Given the description of an element on the screen output the (x, y) to click on. 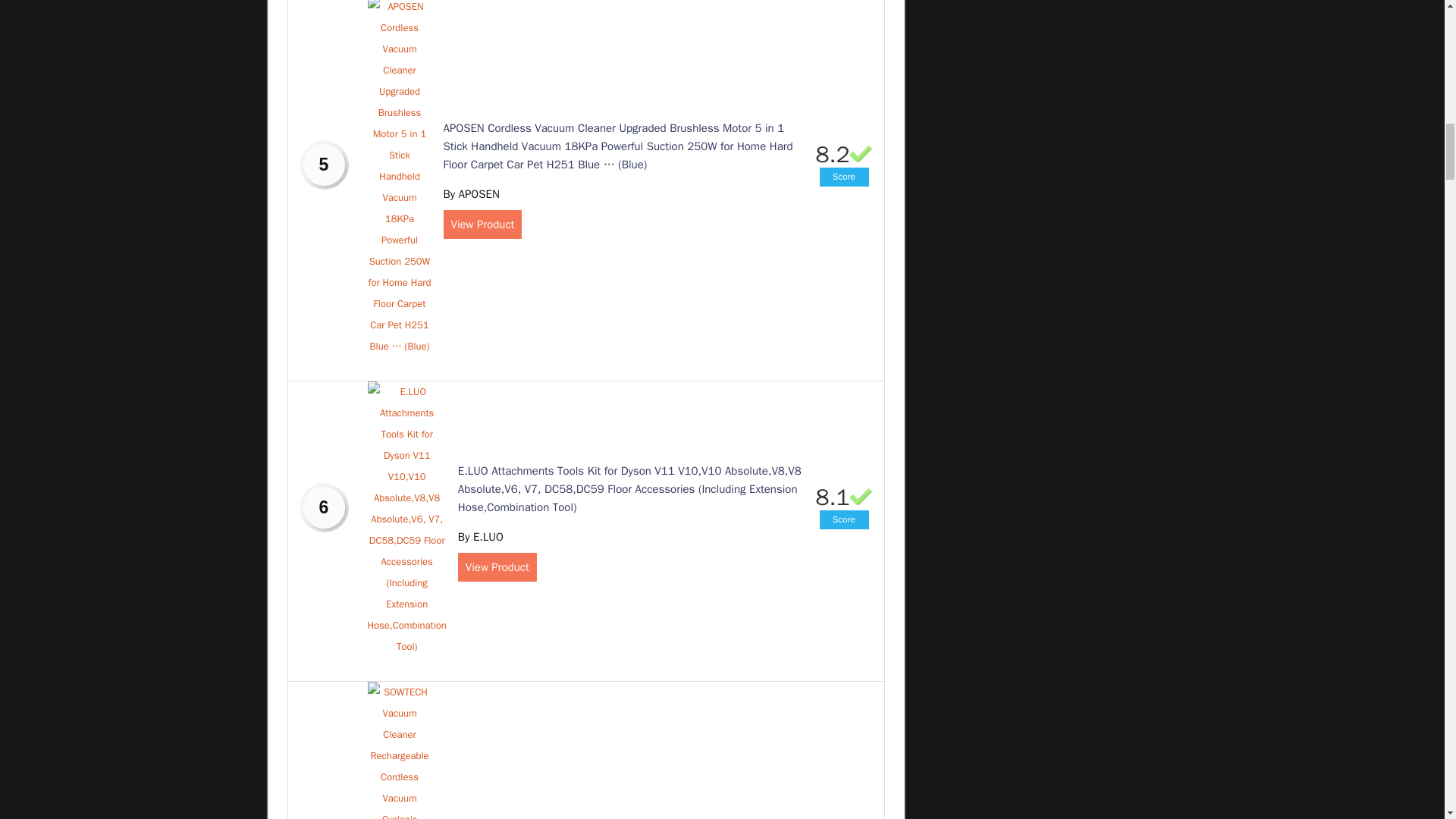
By APOSEN (470, 193)
View Product (497, 566)
View Product (481, 224)
By E.LUO (480, 536)
